Given the description of an element on the screen output the (x, y) to click on. 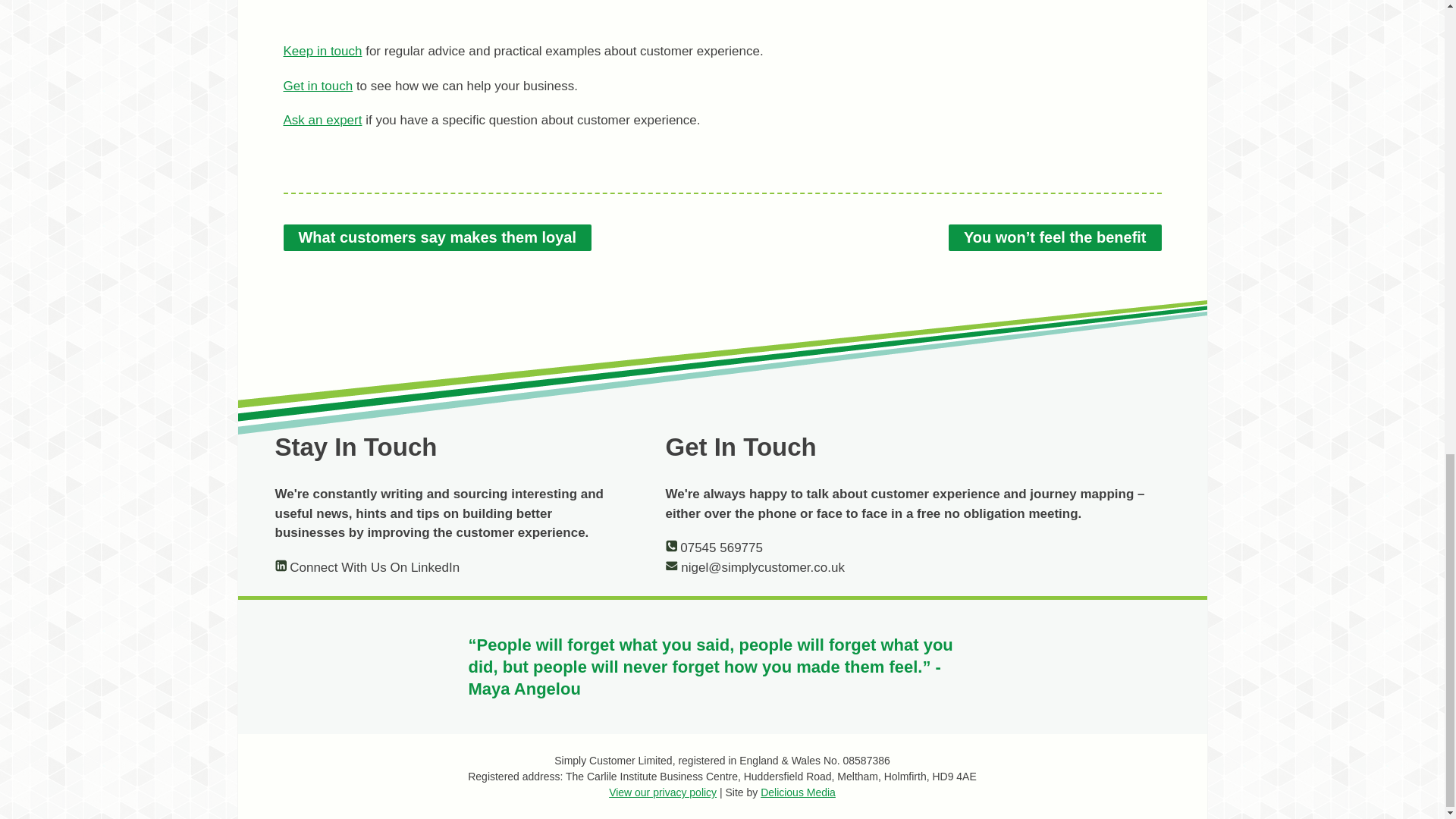
Ask an expert (322, 120)
Delicious Media (797, 792)
Get in touch (318, 85)
Connect With Us On LinkedIn (367, 567)
Keep in touch (322, 51)
View our privacy policy (662, 792)
What customers say makes them loyal (437, 237)
